Given the description of an element on the screen output the (x, y) to click on. 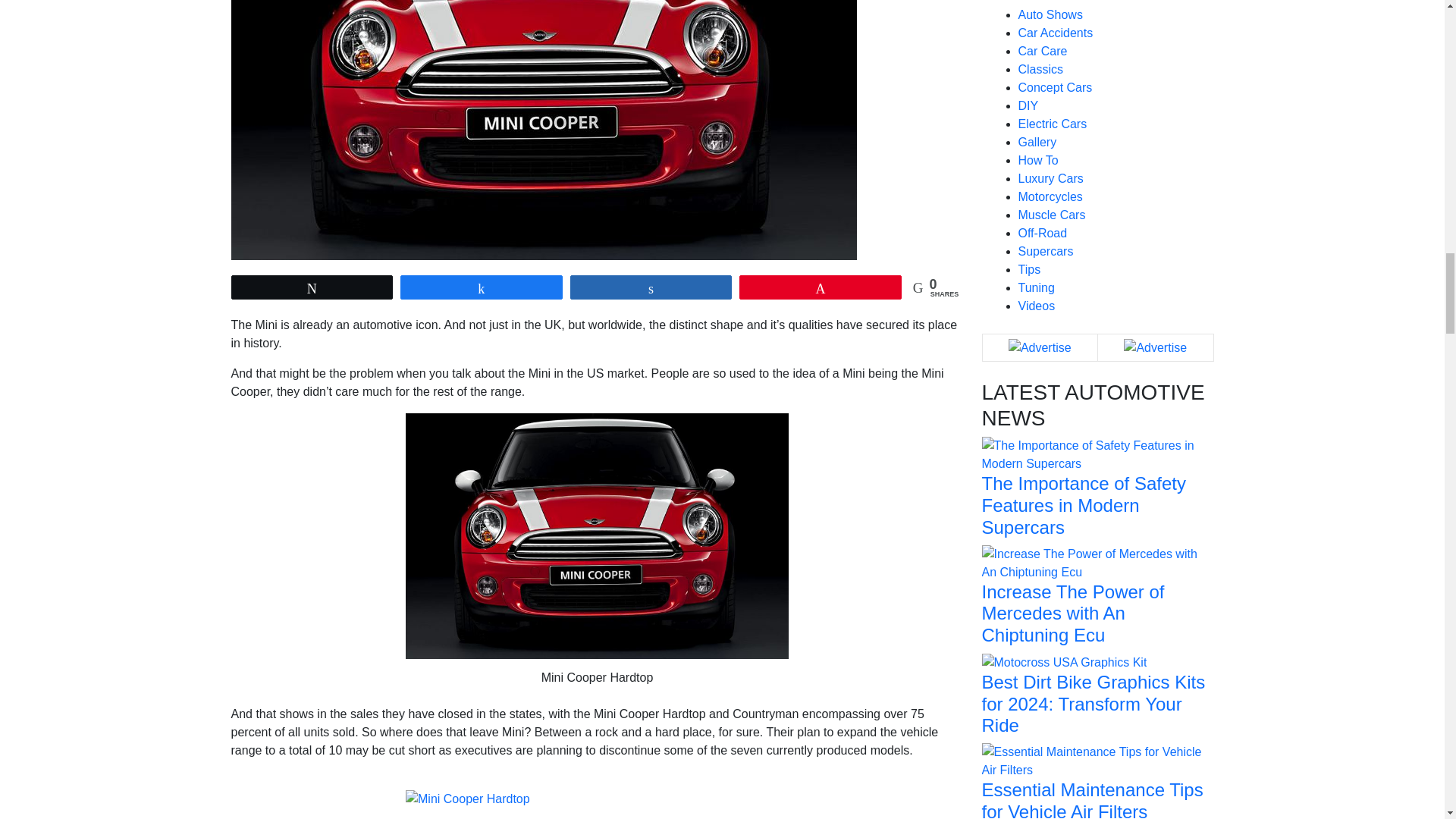
Increase The Power of Mercedes with An Chiptuning Ecu (1096, 562)
The Importance of Safety Features in Modern Supercars (1096, 453)
Advertise (1040, 346)
Advertise (1155, 346)
